Given the description of an element on the screen output the (x, y) to click on. 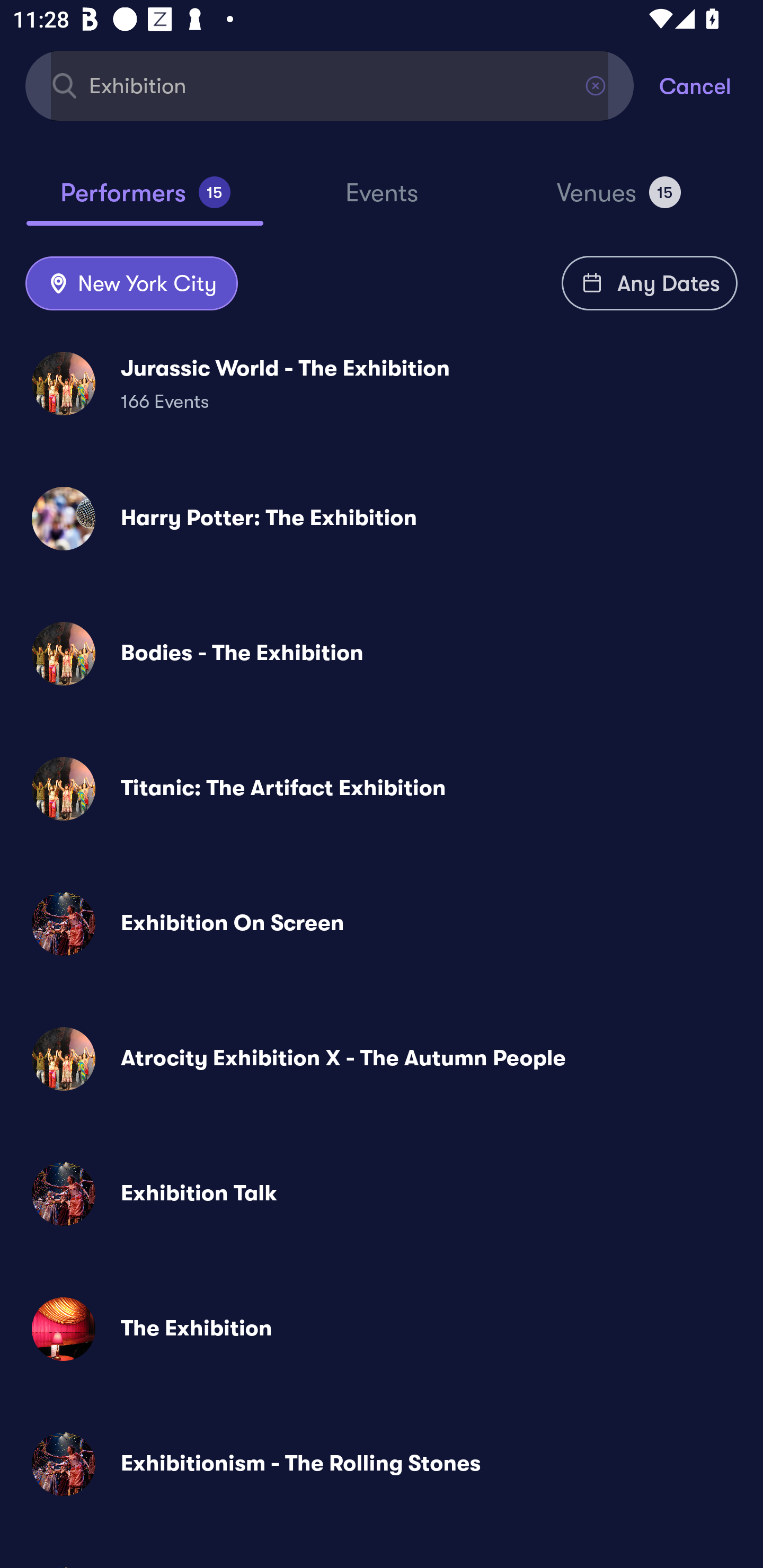
Exhibition Find (329, 85)
Exhibition Find (329, 85)
Cancel (711, 85)
Performers 15 (144, 200)
Venues 15 (618, 200)
Events (381, 201)
Any Dates (649, 282)
New York City (131, 283)
Jurassic World - The Exhibition 166 Events (381, 383)
Harry Potter: The Exhibition (381, 518)
Bodies - The Exhibition (381, 652)
Titanic: The Artifact Exhibition (381, 788)
Exhibition On Screen (381, 924)
Atrocity Exhibition X - The Autumn People (381, 1059)
Exhibition Talk (381, 1193)
The Exhibition (381, 1328)
Exhibitionism - The Rolling Stones (381, 1463)
